Given the description of an element on the screen output the (x, y) to click on. 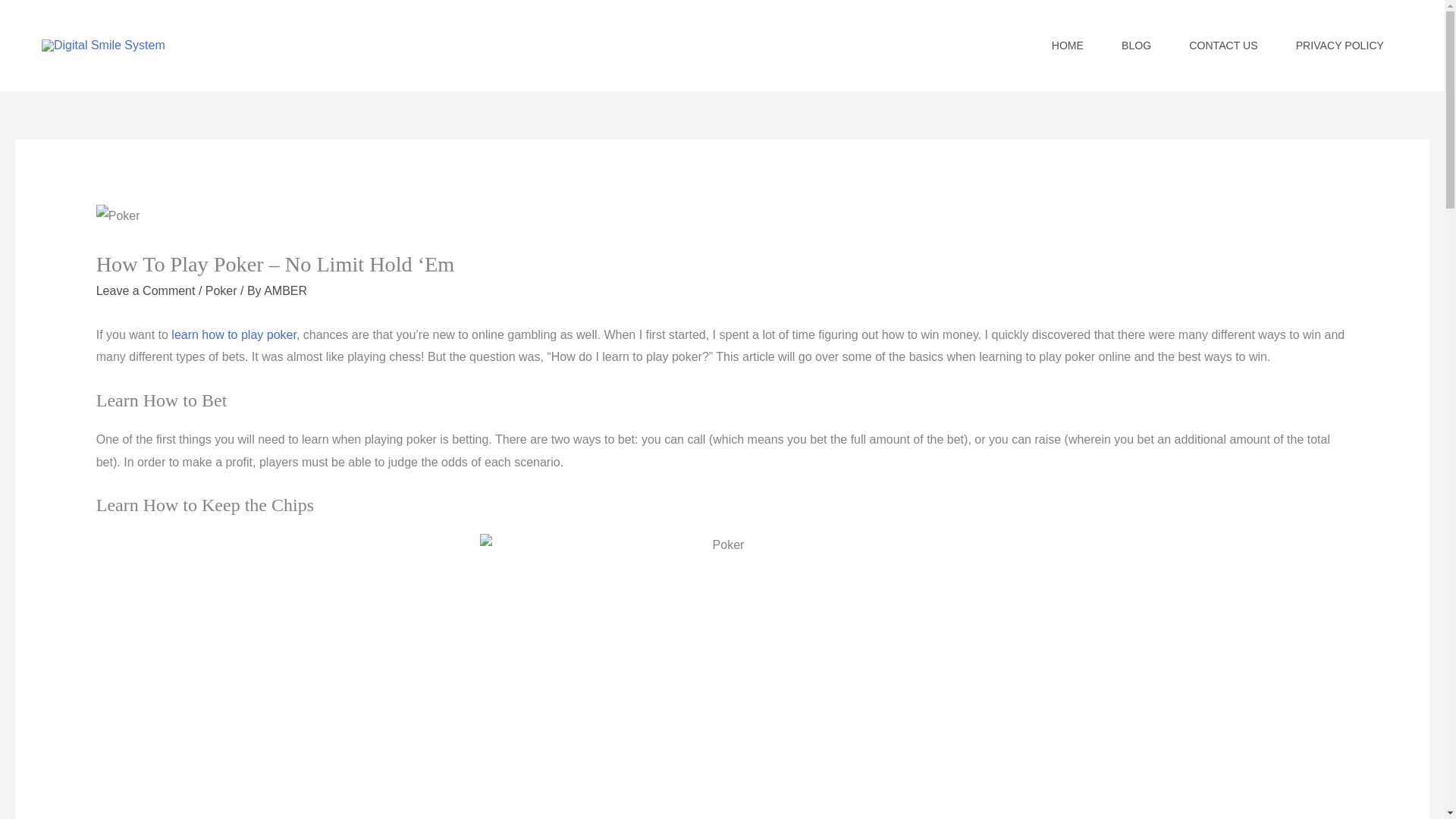
PRIVACY POLICY (1339, 45)
AMBER (285, 290)
learn how to play poker (234, 334)
Leave a Comment (145, 290)
View all posts by AMBER (285, 290)
CONTACT US (1223, 45)
Poker (221, 290)
